Given the description of an element on the screen output the (x, y) to click on. 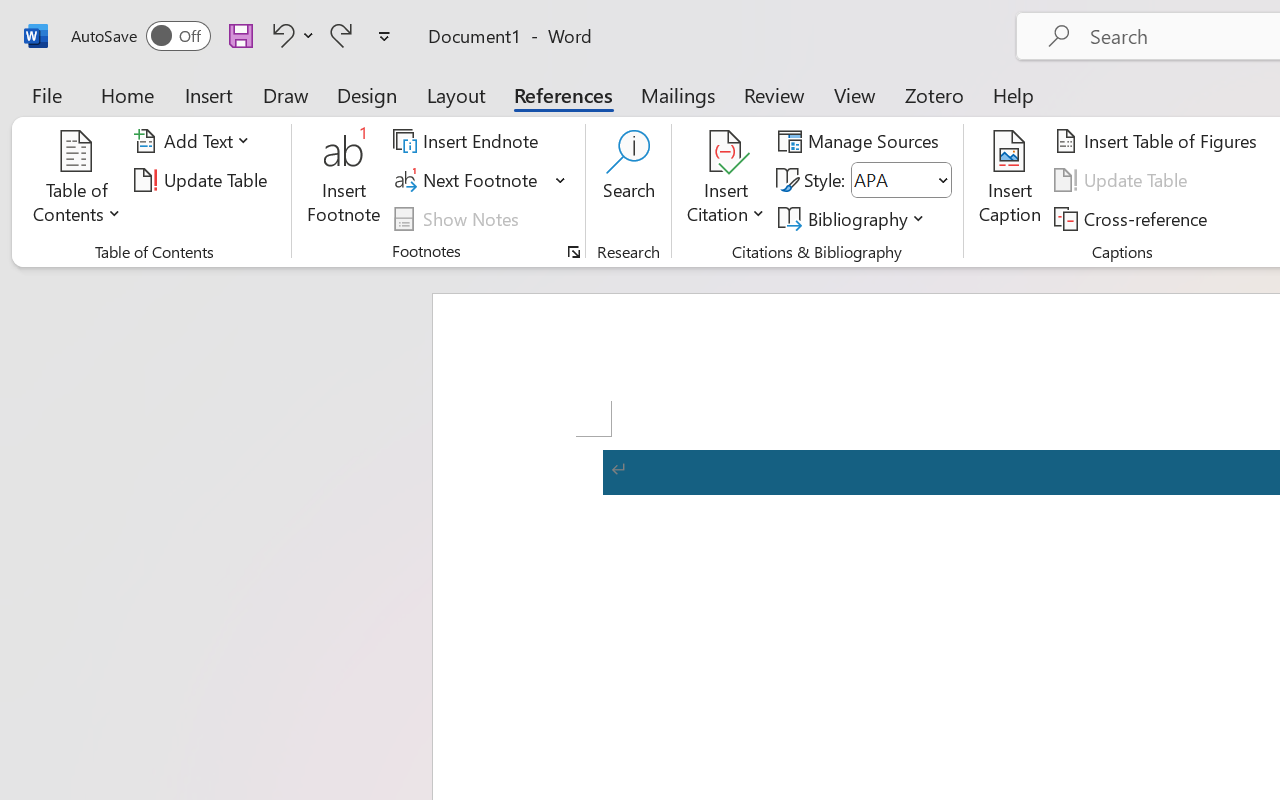
Insert Citation (726, 179)
Next Footnote (468, 179)
Update Table... (204, 179)
Table of Contents (77, 179)
Insert Footnote (344, 179)
Insert Caption... (1009, 180)
Redo Apply Quick Style (341, 35)
